Given the description of an element on the screen output the (x, y) to click on. 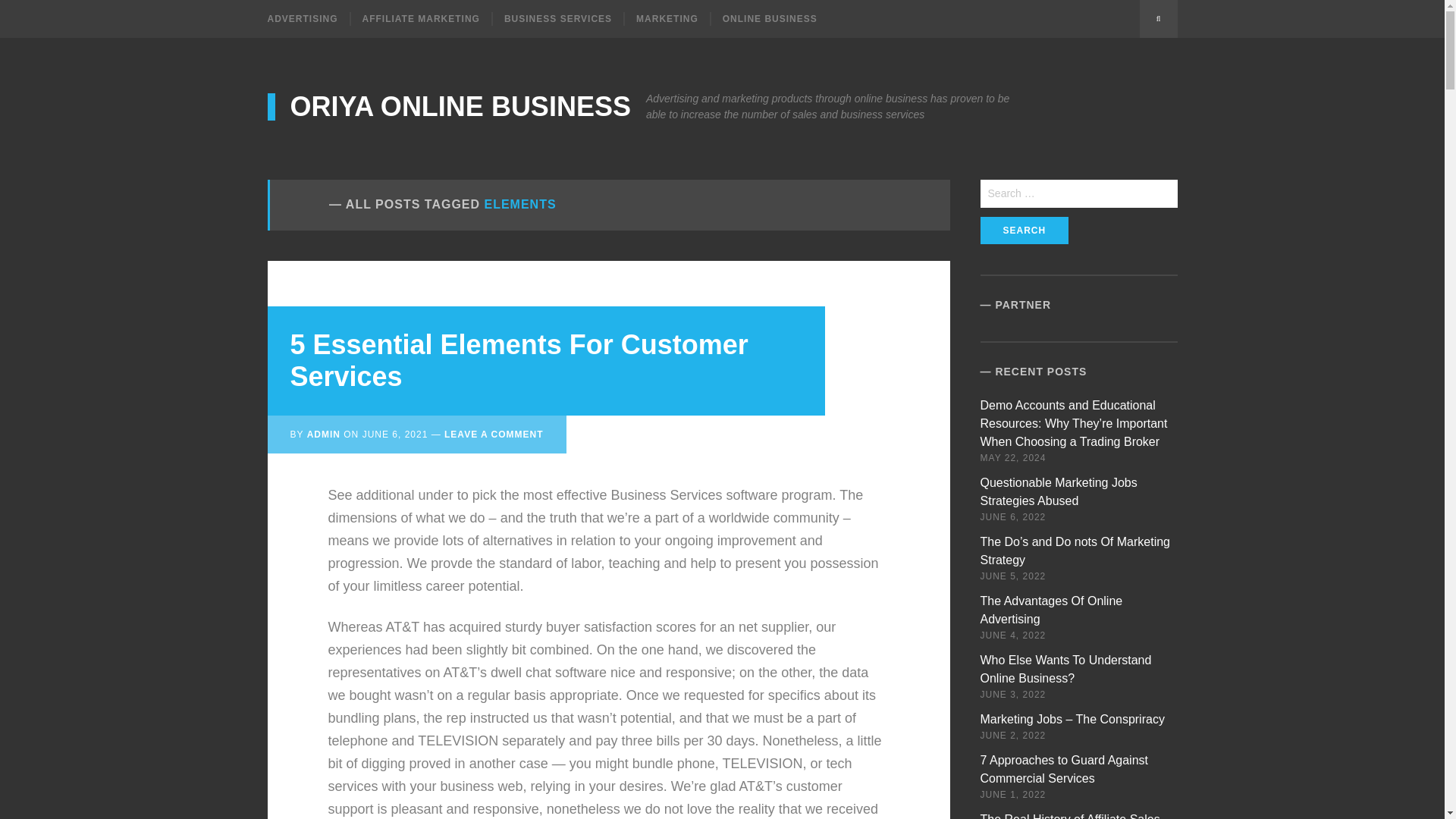
ADMIN (323, 434)
ADVERTISING (307, 18)
Search (1157, 18)
ORIYA ONLINE BUSINESS (448, 106)
BUSINESS SERVICES (557, 18)
Search (1023, 230)
MARKETING (666, 18)
ONLINE BUSINESS (769, 18)
AFFILIATE MARKETING (420, 18)
LEAVE A COMMENT (493, 434)
